Given the description of an element on the screen output the (x, y) to click on. 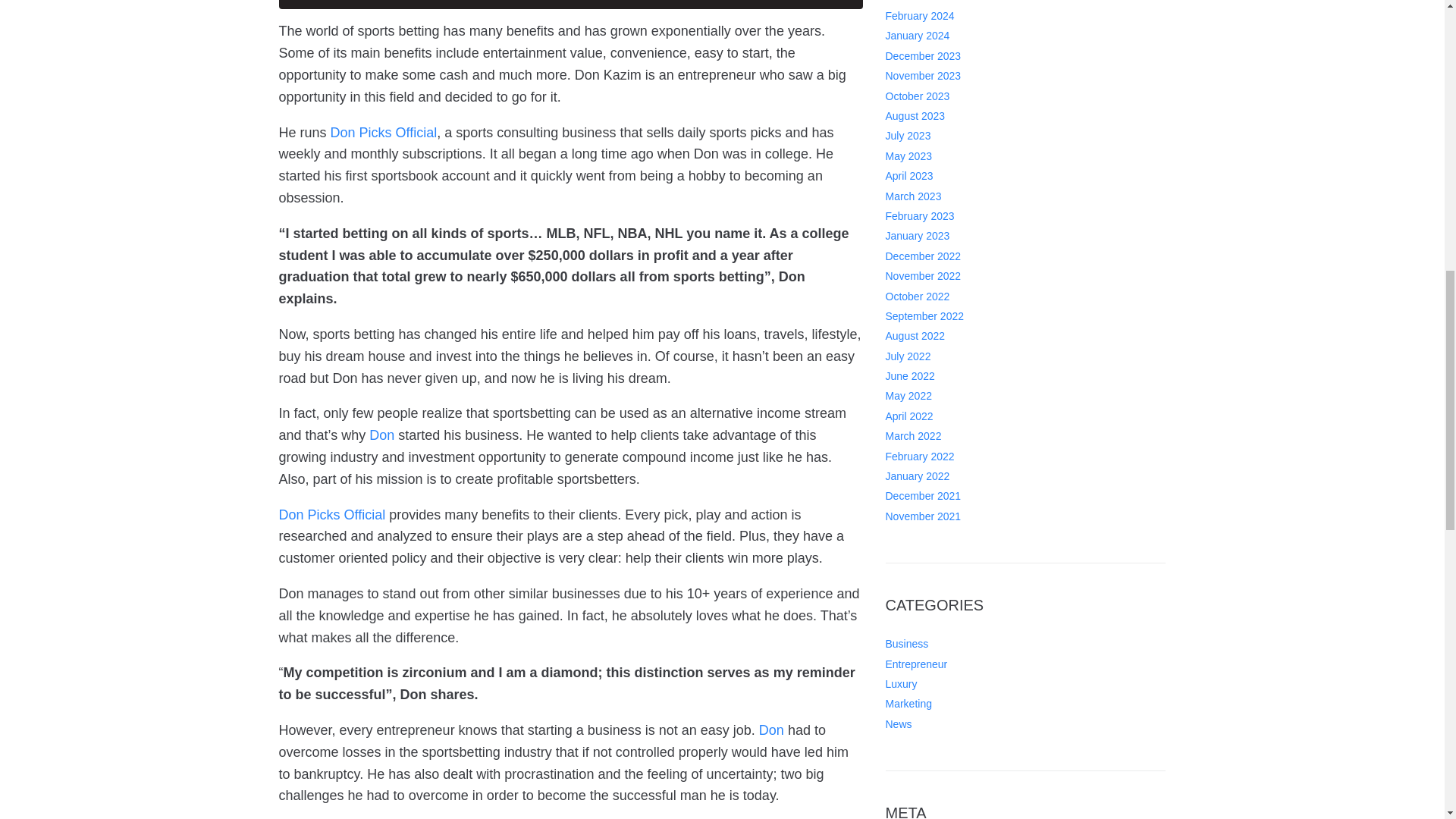
Don (381, 435)
November 2023 (922, 75)
Don Picks Official (384, 132)
Don (771, 729)
December 2023 (922, 55)
March 2024 (913, 1)
October 2023 (917, 96)
Don Picks Official (332, 514)
February 2024 (920, 15)
January 2024 (917, 35)
